Given the description of an element on the screen output the (x, y) to click on. 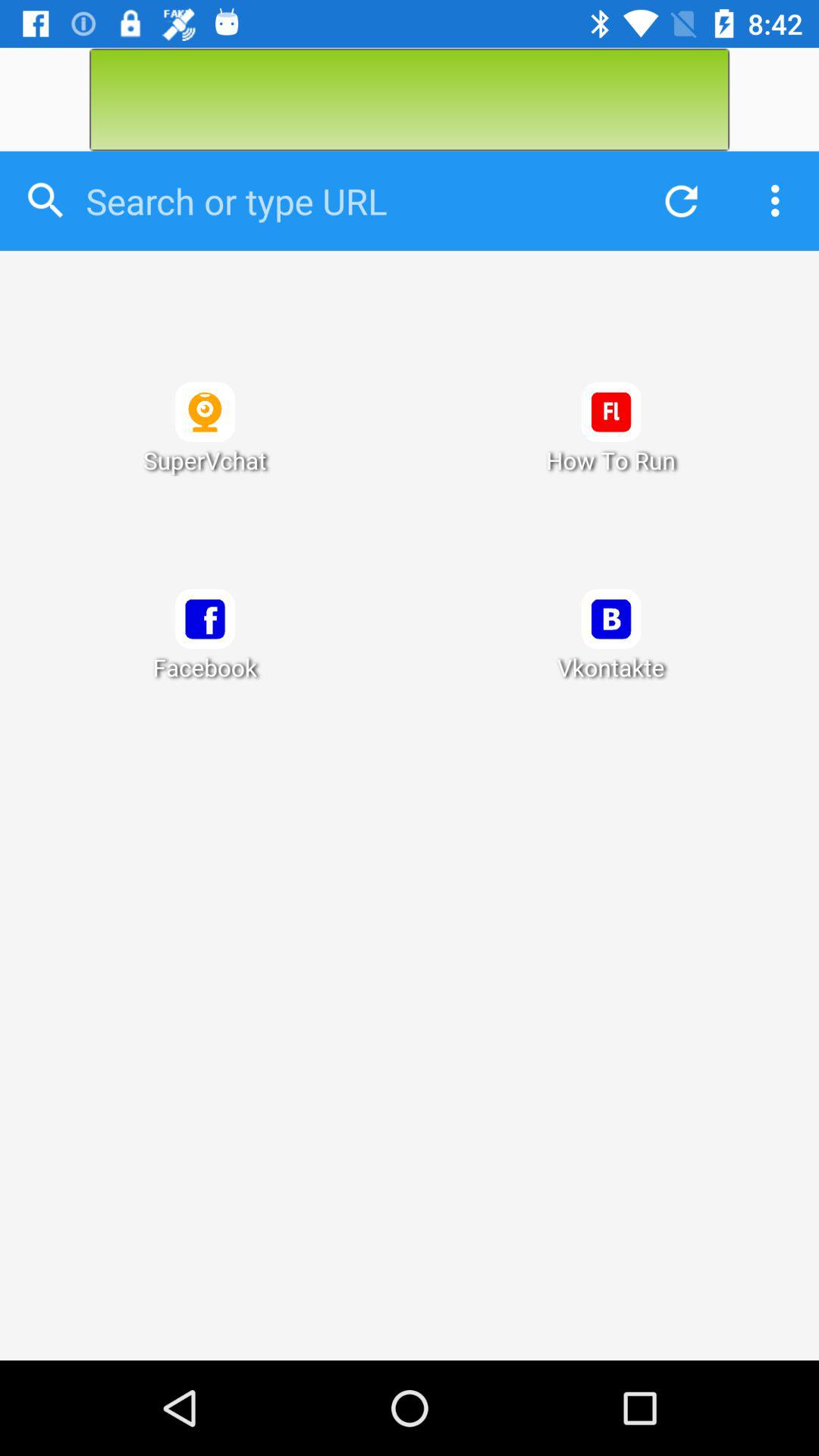
search app (349, 200)
